Given the description of an element on the screen output the (x, y) to click on. 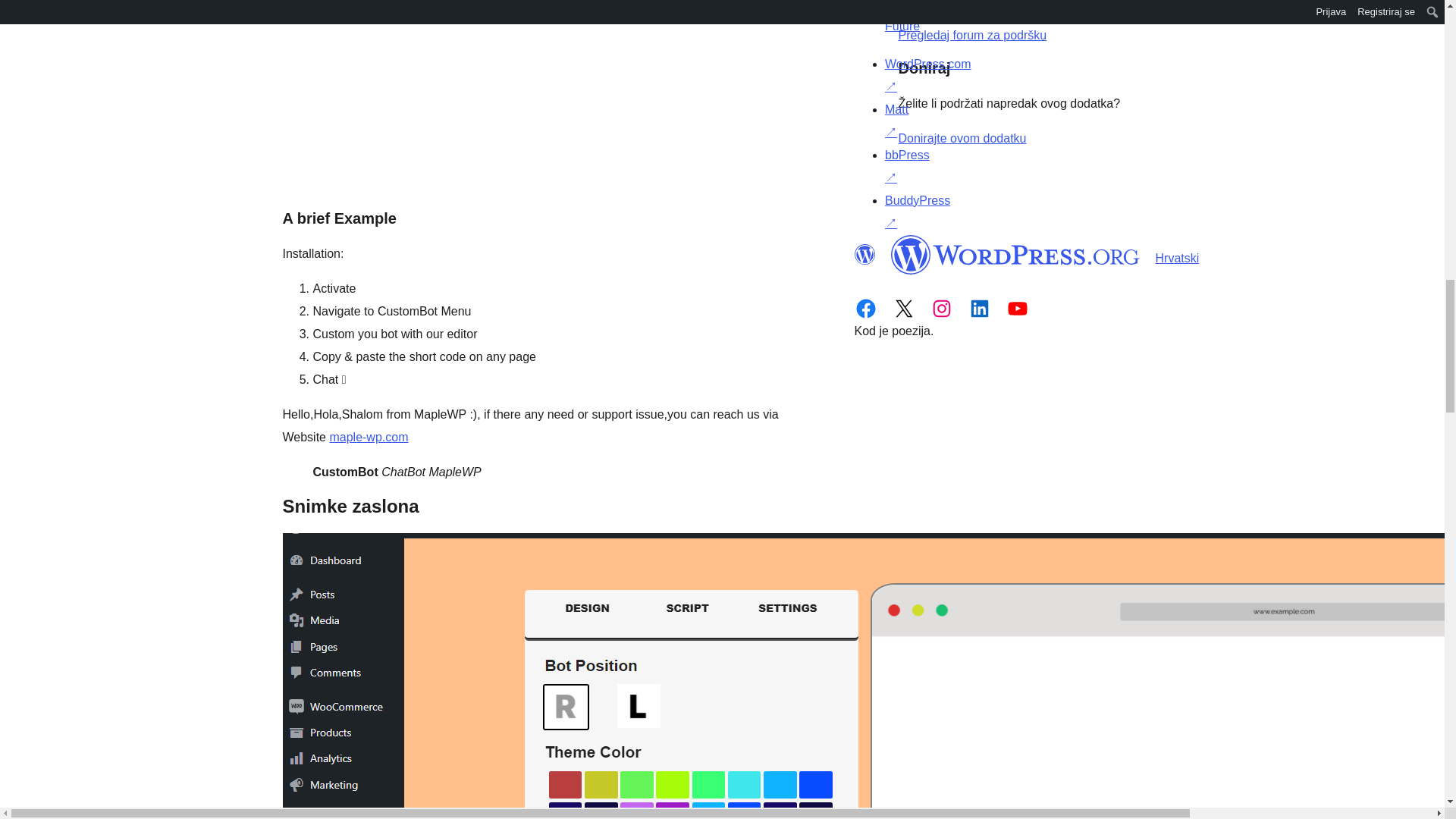
WordPress.org (1014, 254)
WordPress.org (864, 254)
maple-wp.com (368, 436)
